Given the description of an element on the screen output the (x, y) to click on. 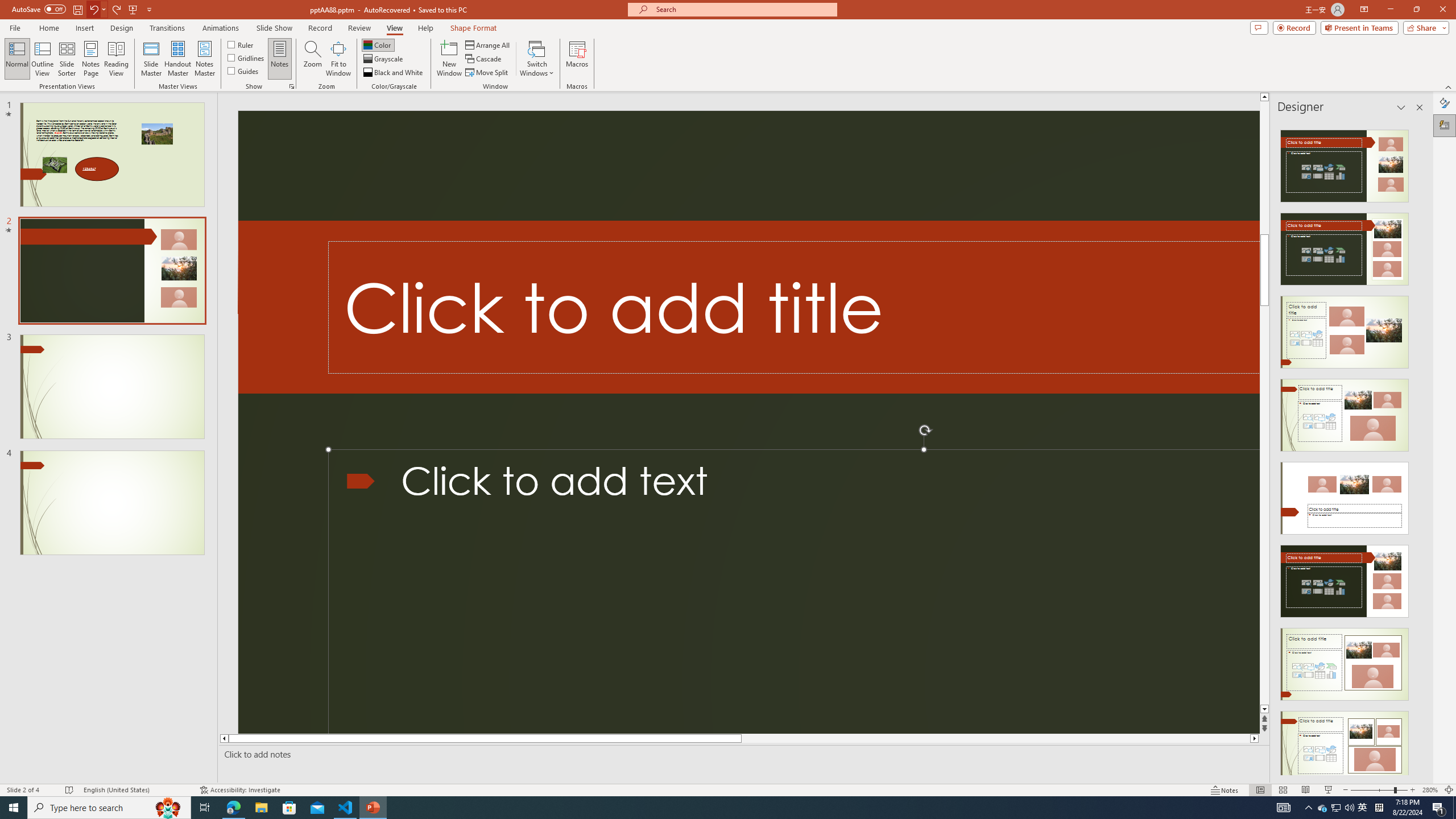
Handout Master (177, 58)
Outline View (42, 58)
Grid Settings... (291, 85)
Black and White (393, 72)
Zoom 280% (1430, 790)
